Given the description of an element on the screen output the (x, y) to click on. 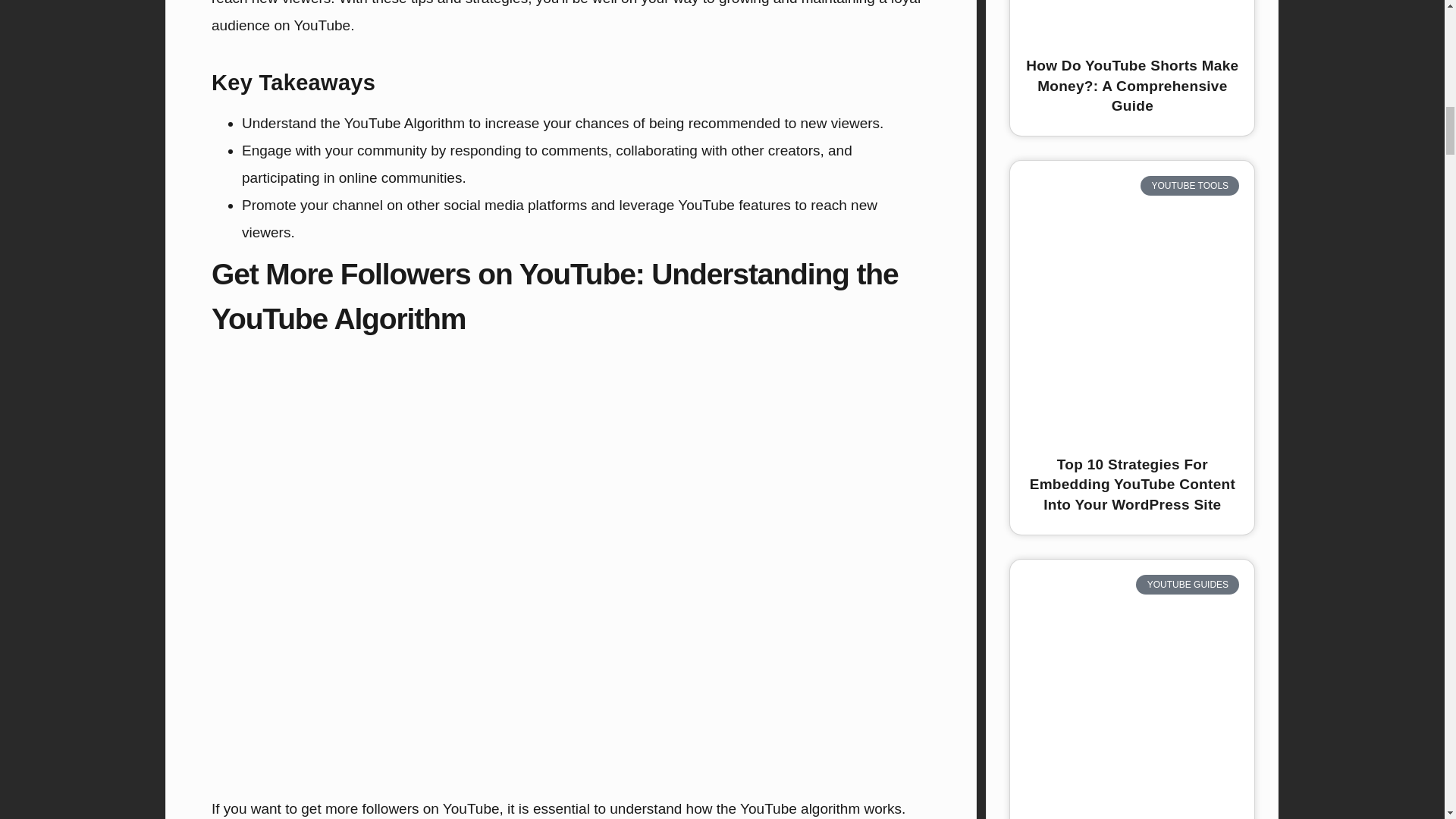
Promote your channel (311, 204)
essential to understand how the YouTube (664, 808)
